Given the description of an element on the screen output the (x, y) to click on. 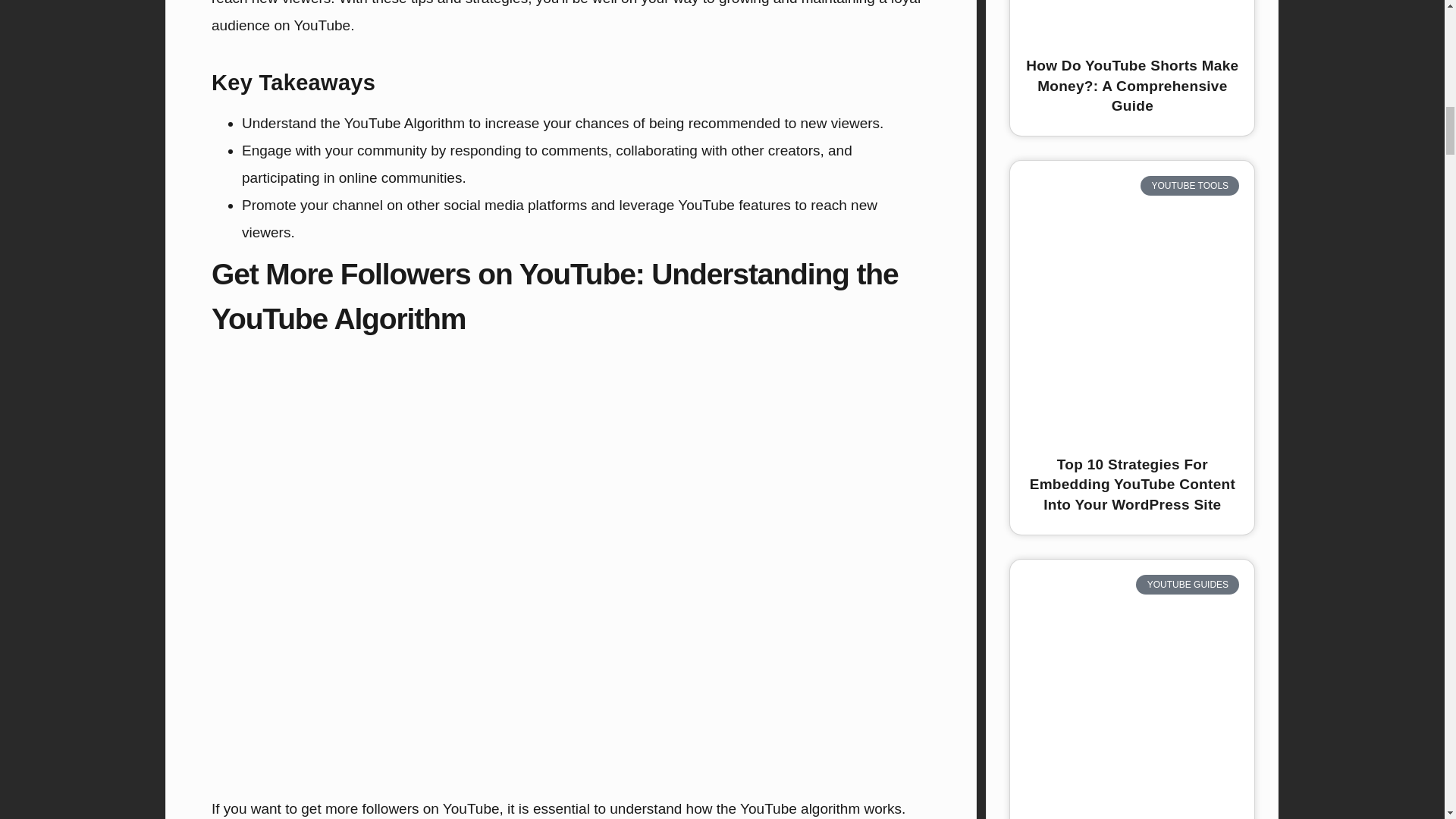
Promote your channel (311, 204)
essential to understand how the YouTube (664, 808)
